Given the description of an element on the screen output the (x, y) to click on. 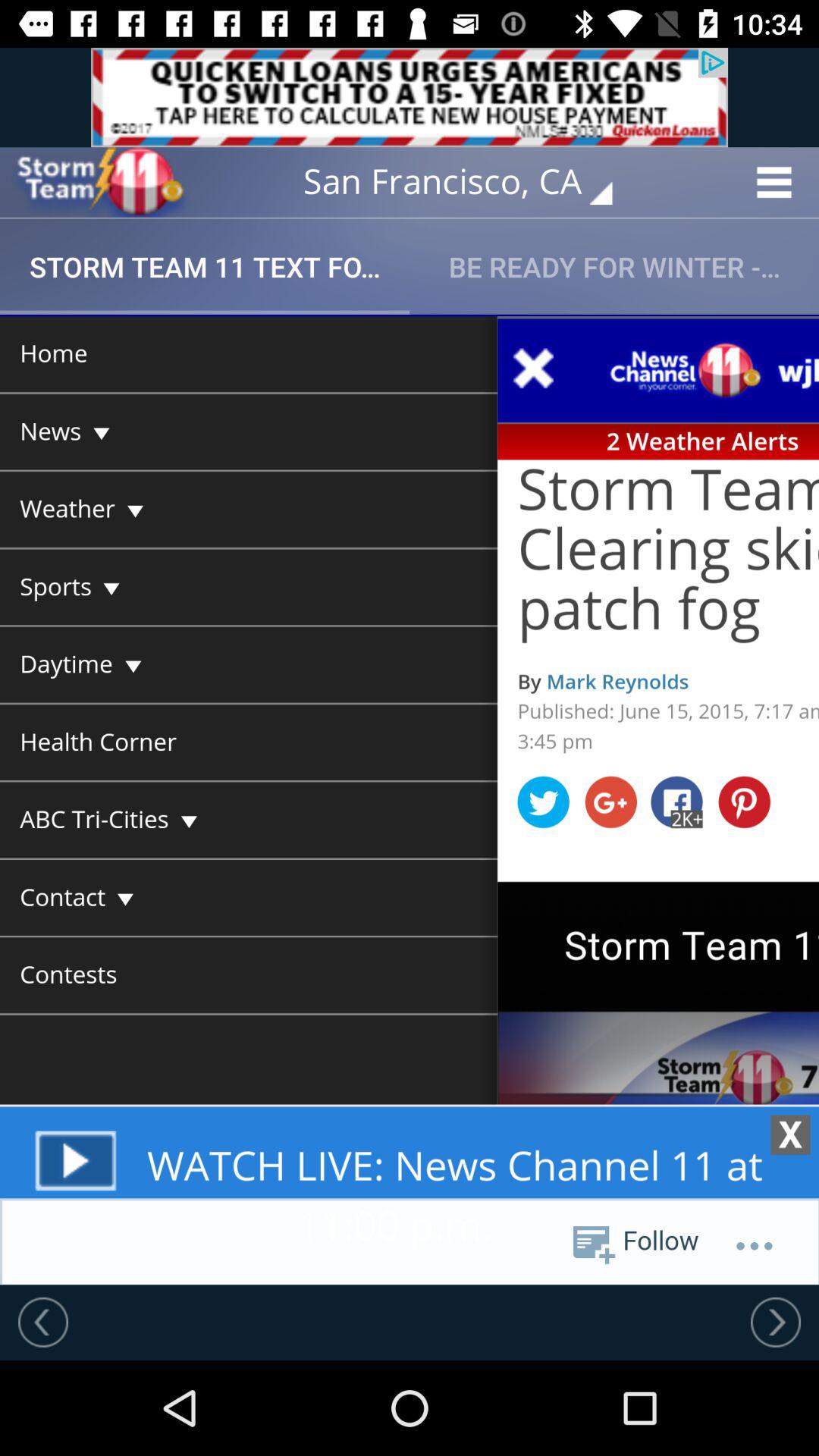
main menu (409, 799)
